Given the description of an element on the screen output the (x, y) to click on. 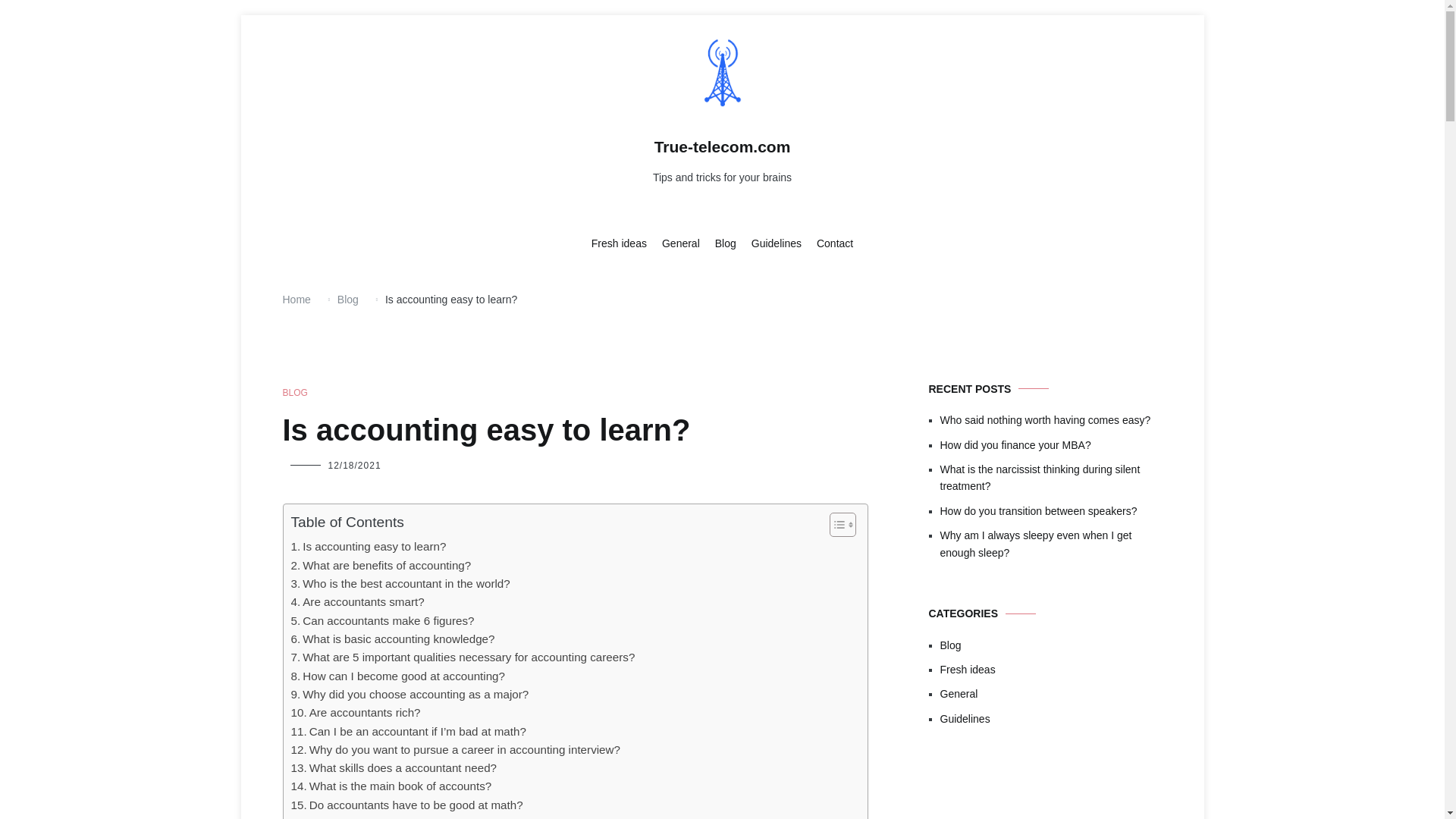
Are accountants happy? (362, 816)
Contact (834, 244)
Do accountants have to be good at math? (406, 805)
Are accountants rich? (355, 712)
What skills does a accountant need? (394, 768)
Blog (725, 244)
Why do you want to pursue a career in accounting interview? (455, 750)
What are benefits of accounting? (381, 565)
True-telecom.com (721, 146)
What is basic accounting knowledge? (393, 638)
Why did you choose accounting as a major? (410, 694)
Are accountants smart? (358, 601)
General (681, 244)
What is the main book of accounts? (391, 786)
Do accountants have to be good at math? (406, 805)
